Given the description of an element on the screen output the (x, y) to click on. 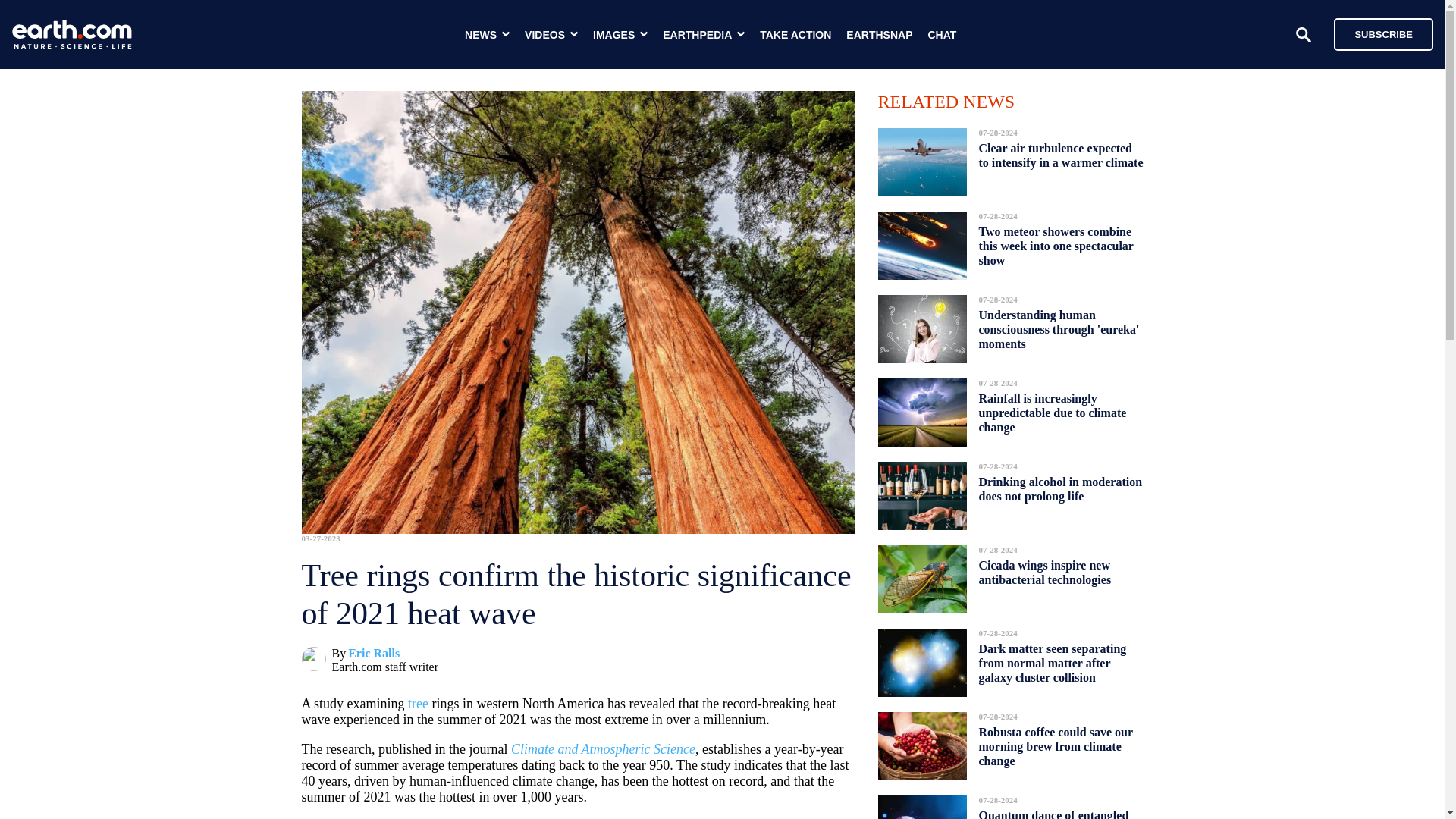
SUBSCRIBE (1382, 34)
Eric Ralls (372, 653)
Cicada wings inspire new antibacterial technologies (1044, 572)
Understanding human consciousness through 'eureka' moments (1058, 329)
tree (417, 703)
Quantum dance of entangled photons captured in real-time (1055, 810)
Rainfall is increasingly unpredictable due to climate change (1051, 412)
EARTHSNAP (878, 34)
SUBSCRIBE (1375, 33)
CHAT (941, 34)
Climate and Atmospheric Science (603, 749)
